Given the description of an element on the screen output the (x, y) to click on. 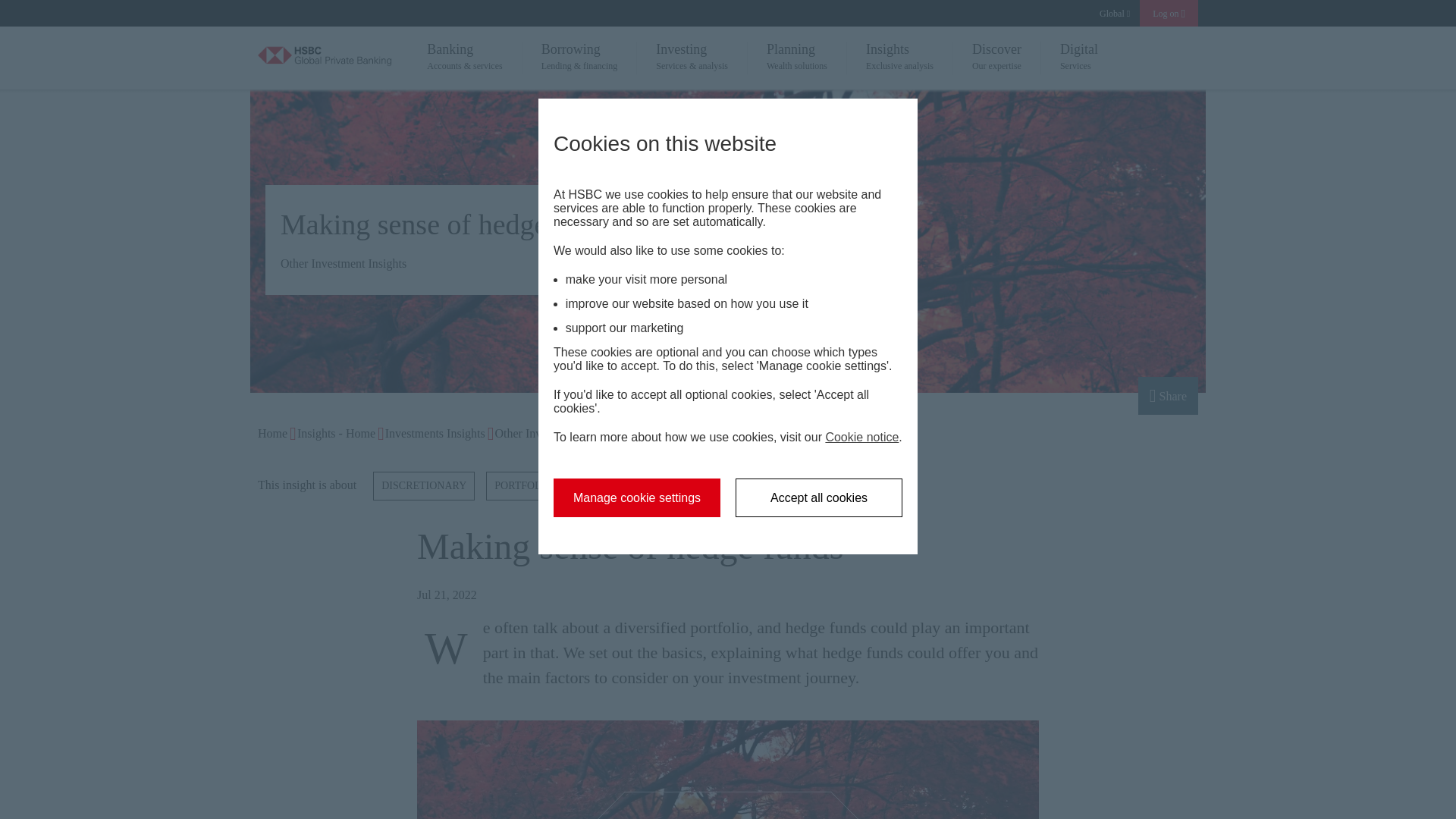
Log on (1169, 13)
